Given the description of an element on the screen output the (x, y) to click on. 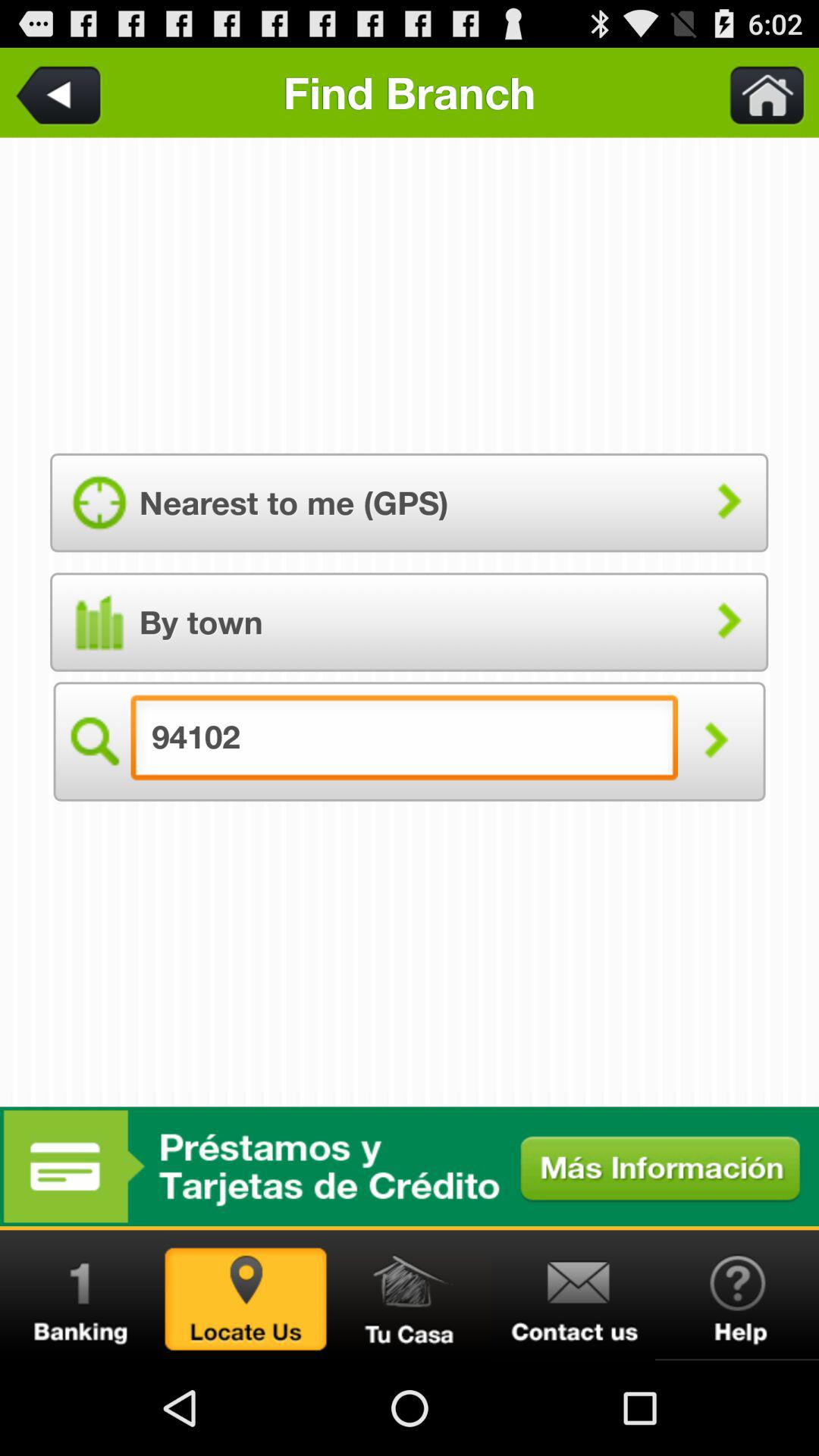
banking homepage (81, 1295)
